Given the description of an element on the screen output the (x, y) to click on. 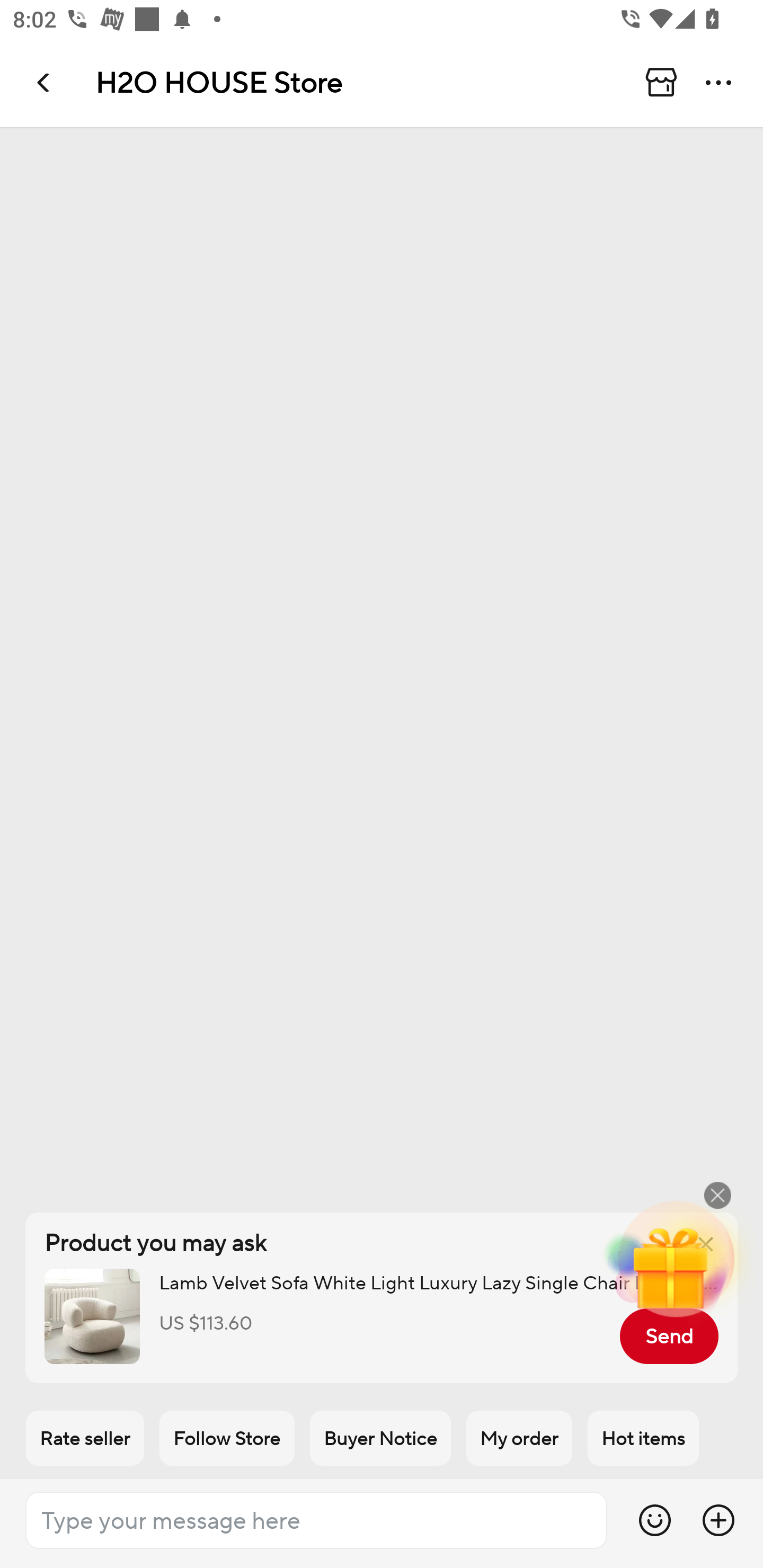
Navigate up (44, 82)
Send (668, 1335)
Rate seller (84, 1437)
Follow Store (226, 1437)
Buyer Notice (380, 1437)
My order (519, 1437)
Hot items (642, 1437)
Type your message here (316, 1520)
